Given the description of an element on the screen output the (x, y) to click on. 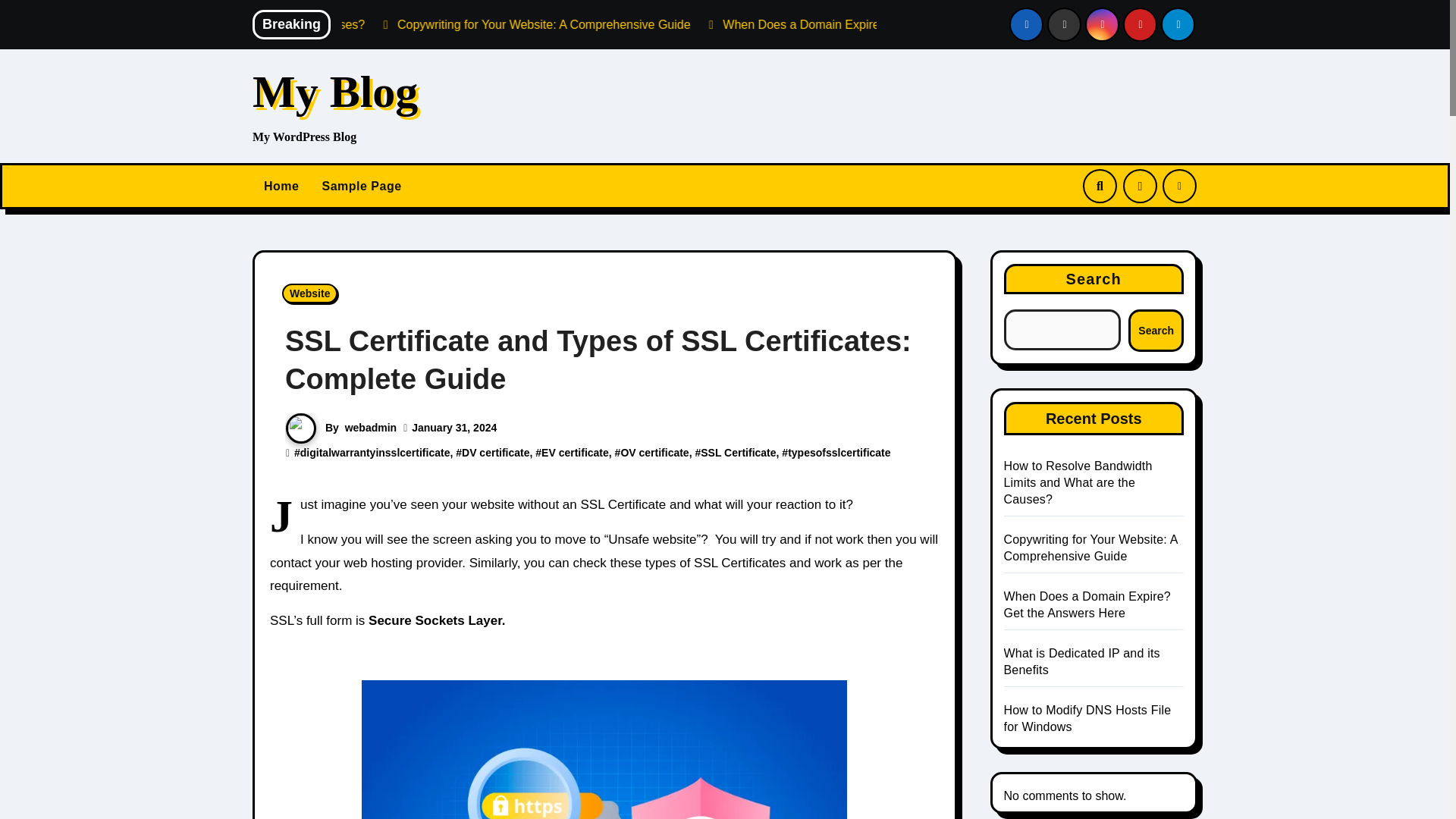
How to Resolve Bandwidth Limits and What are the Causes? (427, 24)
OV certificate (654, 452)
DV certificate (495, 452)
SSL Certificate (738, 452)
My Blog (334, 91)
typesofsslcertificate (838, 452)
Sample Page (361, 187)
January 31, 2024 (454, 427)
EV certificate (574, 452)
webadmin (370, 427)
